Given the description of an element on the screen output the (x, y) to click on. 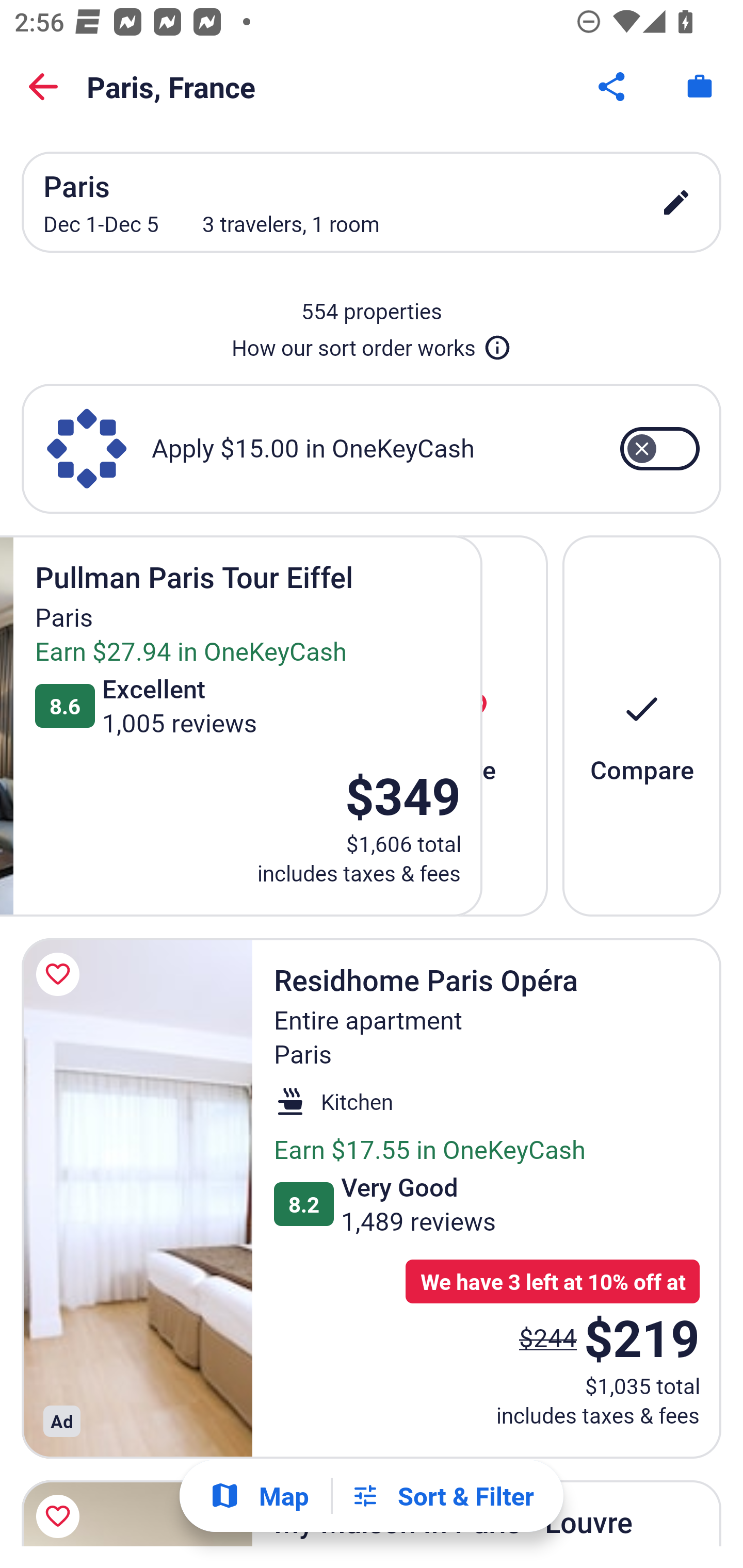
Back (43, 86)
Share Button (612, 86)
Trips. Button (699, 86)
Paris Dec 1-Dec 5 3 travelers, 1 room edit (371, 202)
How our sort order works (371, 344)
Save Residhome Paris Opéra to a trip (61, 974)
Residhome Paris Opéra (136, 1197)
$244 The price was $244 (547, 1337)
Filters Sort & Filter Filters Button (442, 1495)
Save My Maison In Paris - Louvre to a trip (61, 1509)
Show map Map Show map Button (258, 1495)
